Given the description of an element on the screen output the (x, y) to click on. 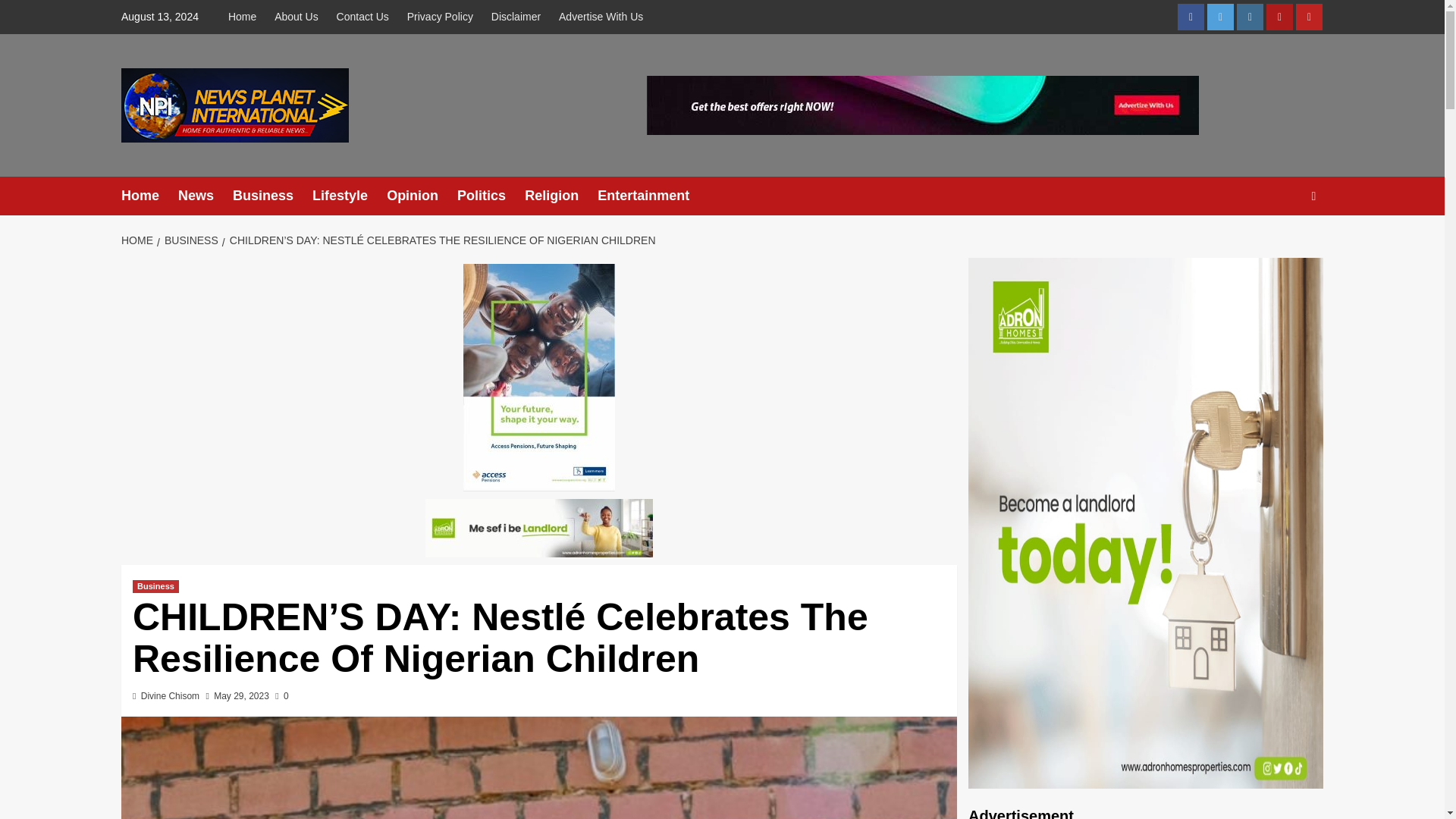
Thread (1279, 17)
Instagram (1249, 17)
0 (281, 696)
Contact Us (362, 17)
May 29, 2023 (241, 696)
Facebook (1190, 17)
Twitter (1220, 17)
About Us (296, 17)
Home (148, 195)
Home (245, 17)
